Given the description of an element on the screen output the (x, y) to click on. 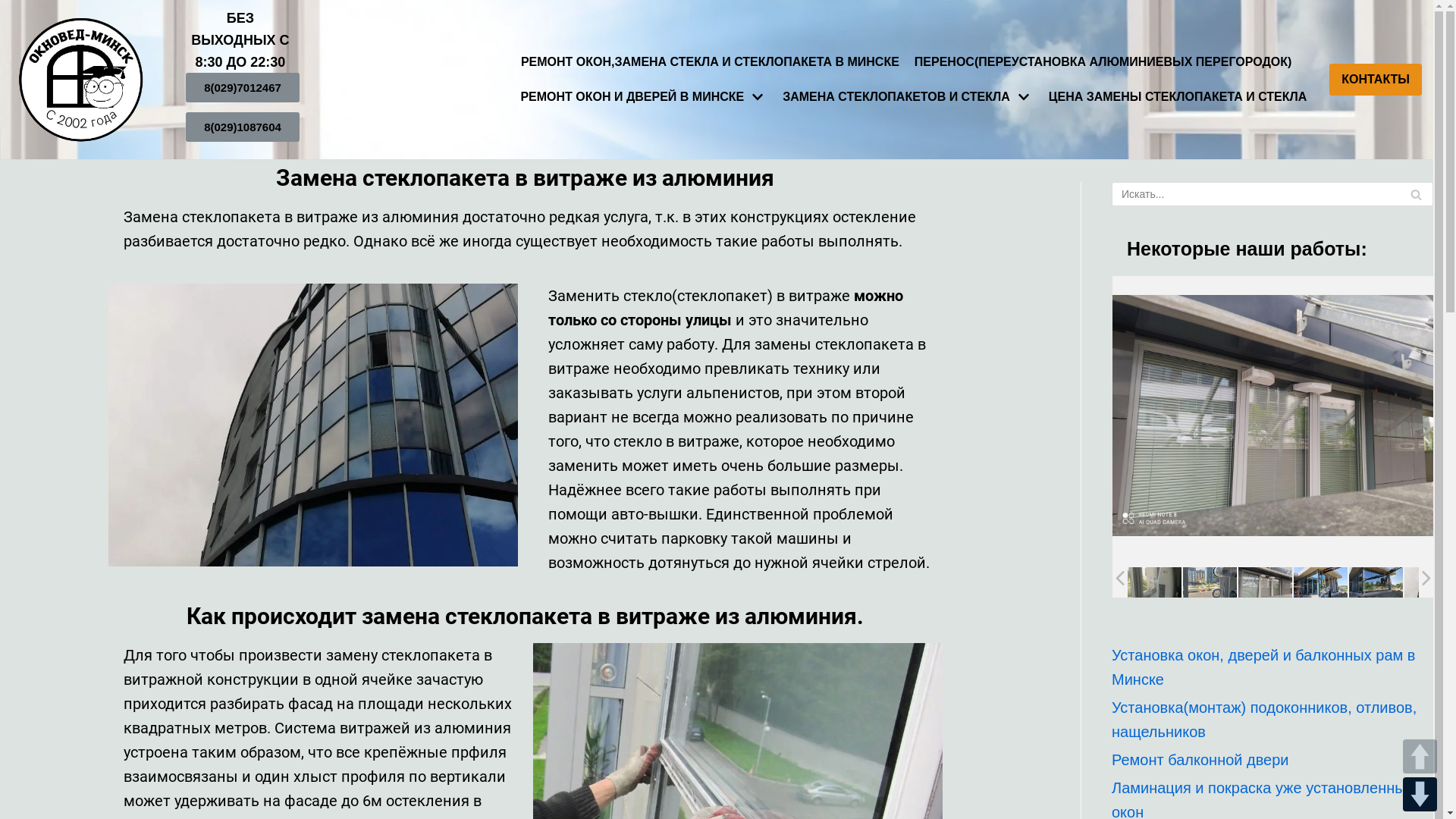
UP Element type: text (1419, 756)
DOWN Element type: text (1419, 794)
8(029)7012467 Element type: text (242, 87)
8(029)1087604 Element type: text (242, 126)
